Given the description of an element on the screen output the (x, y) to click on. 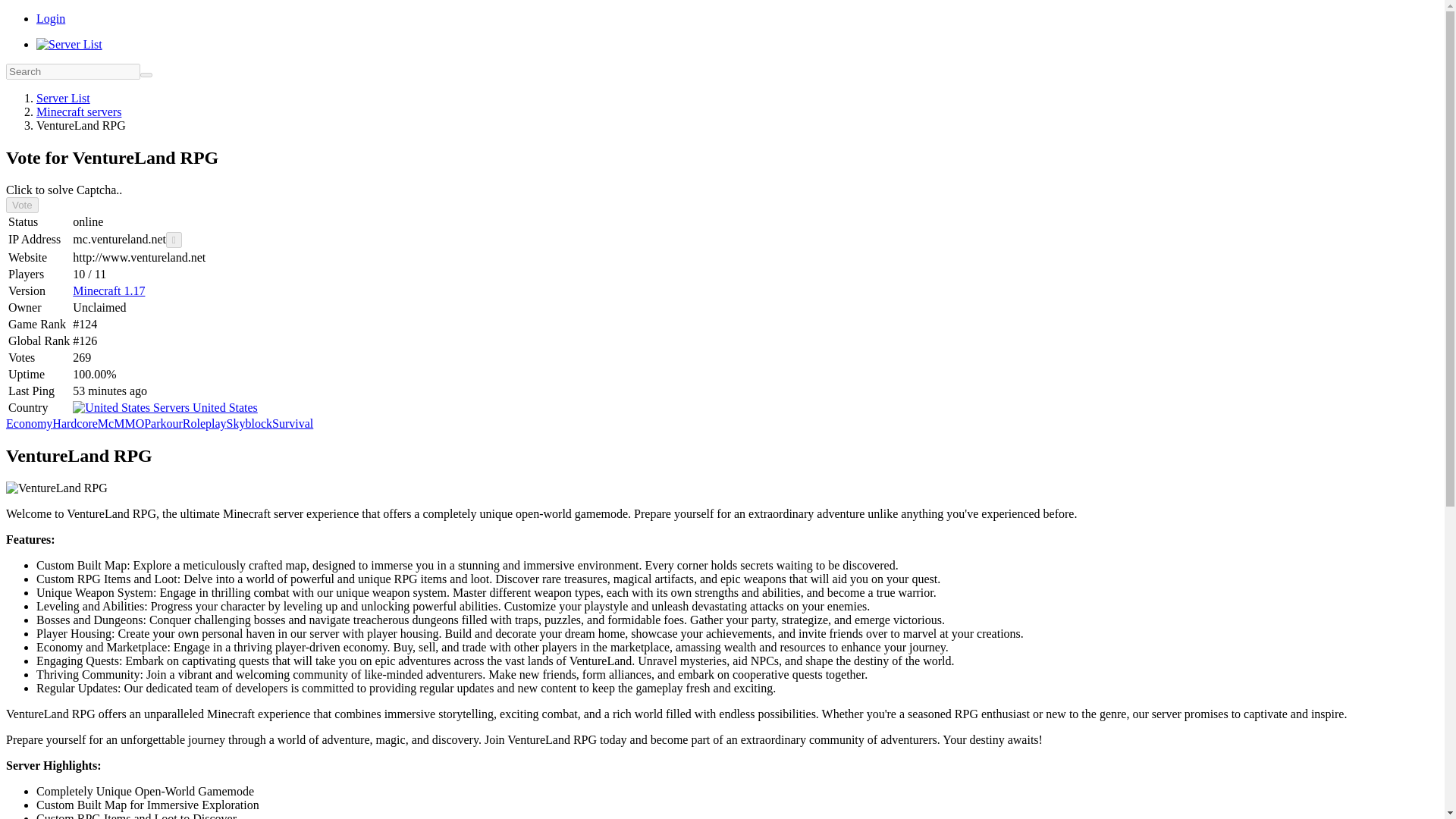
Survival (292, 422)
Vote (22, 204)
Server List (63, 97)
Hardcore (74, 422)
McMMO (120, 422)
Search (145, 74)
Minecraft 1.17 (108, 290)
Parkour (163, 422)
Skyblock (249, 422)
Login (50, 18)
Roleplay (205, 422)
United States (164, 407)
Copy mc.ventureland.net (173, 239)
Economy (28, 422)
Minecraft servers (78, 111)
